Given the description of an element on the screen output the (x, y) to click on. 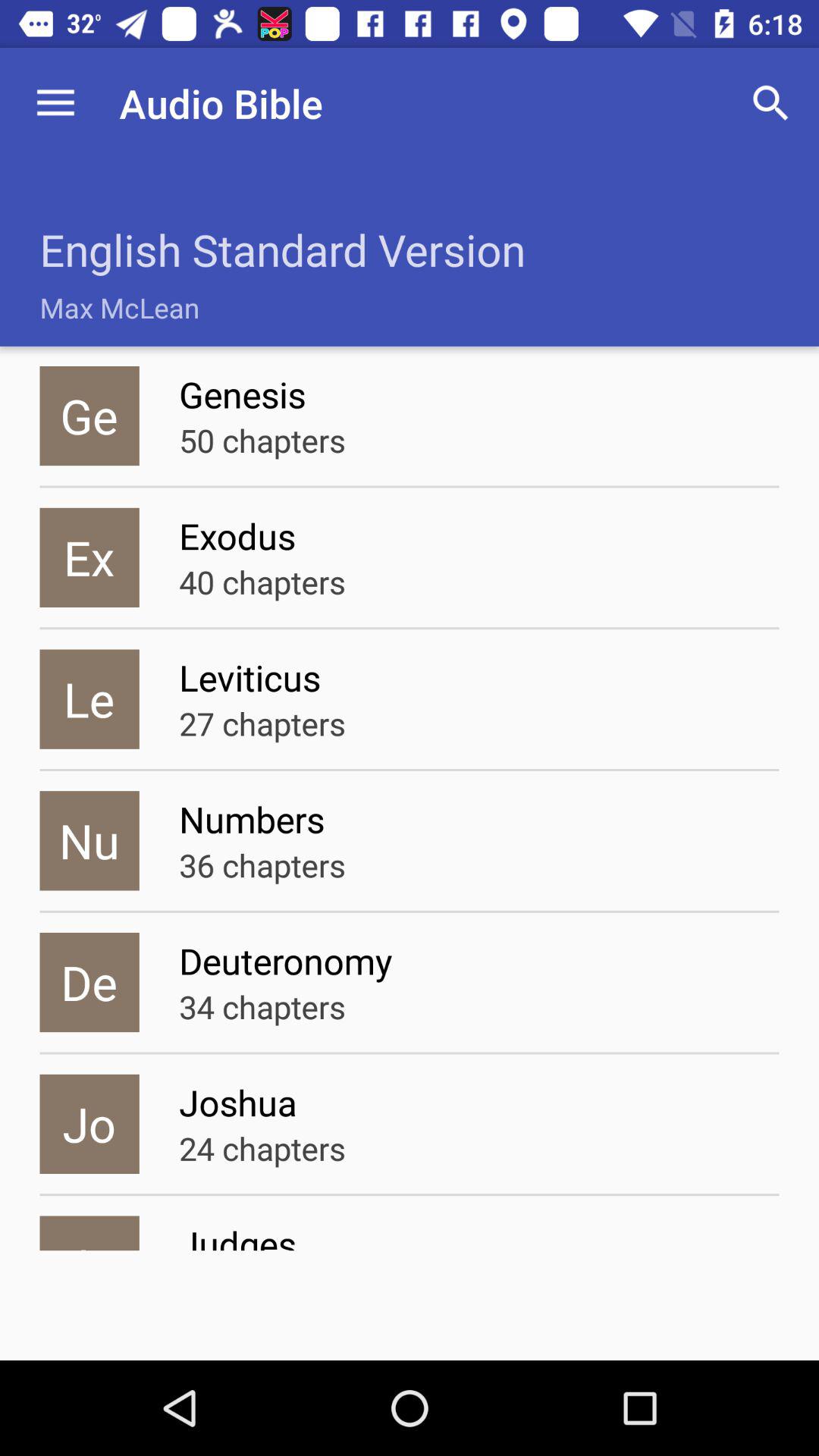
launch the item to the right of jo (262, 1147)
